Given the description of an element on the screen output the (x, y) to click on. 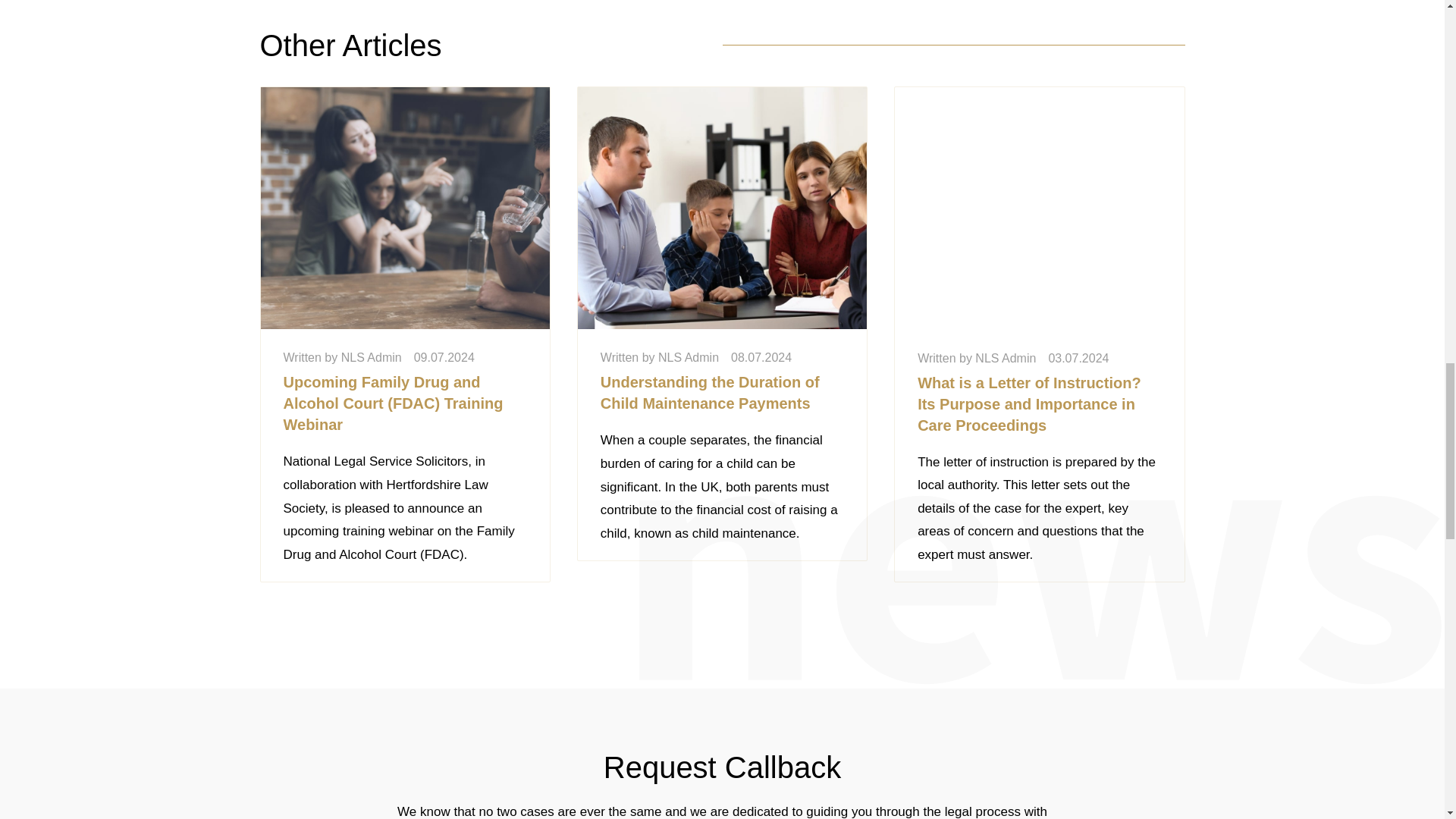
Understanding the Duration of Child Maintenance Payments (709, 392)
